Given the description of an element on the screen output the (x, y) to click on. 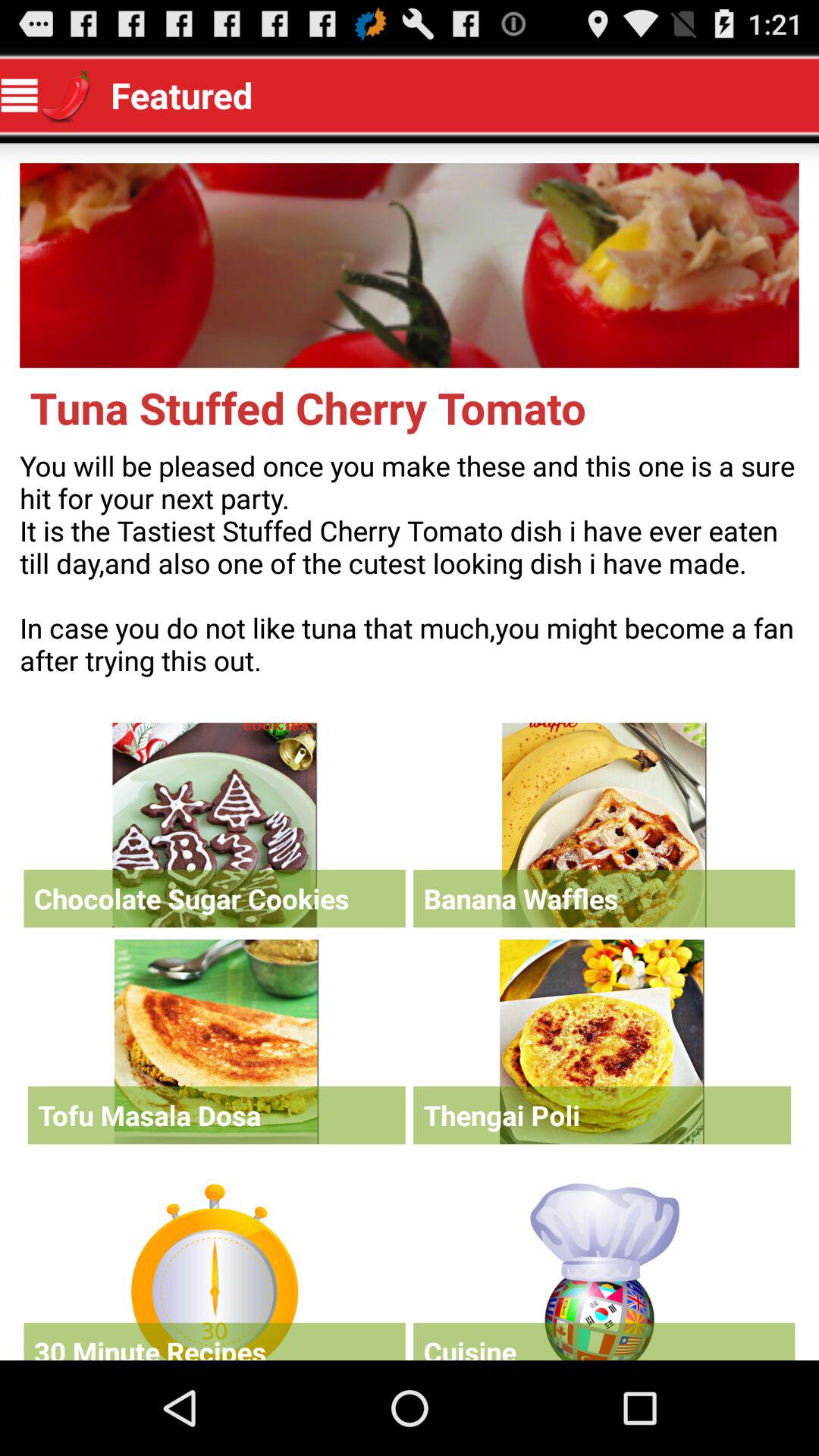
click article (216, 1041)
